Given the description of an element on the screen output the (x, y) to click on. 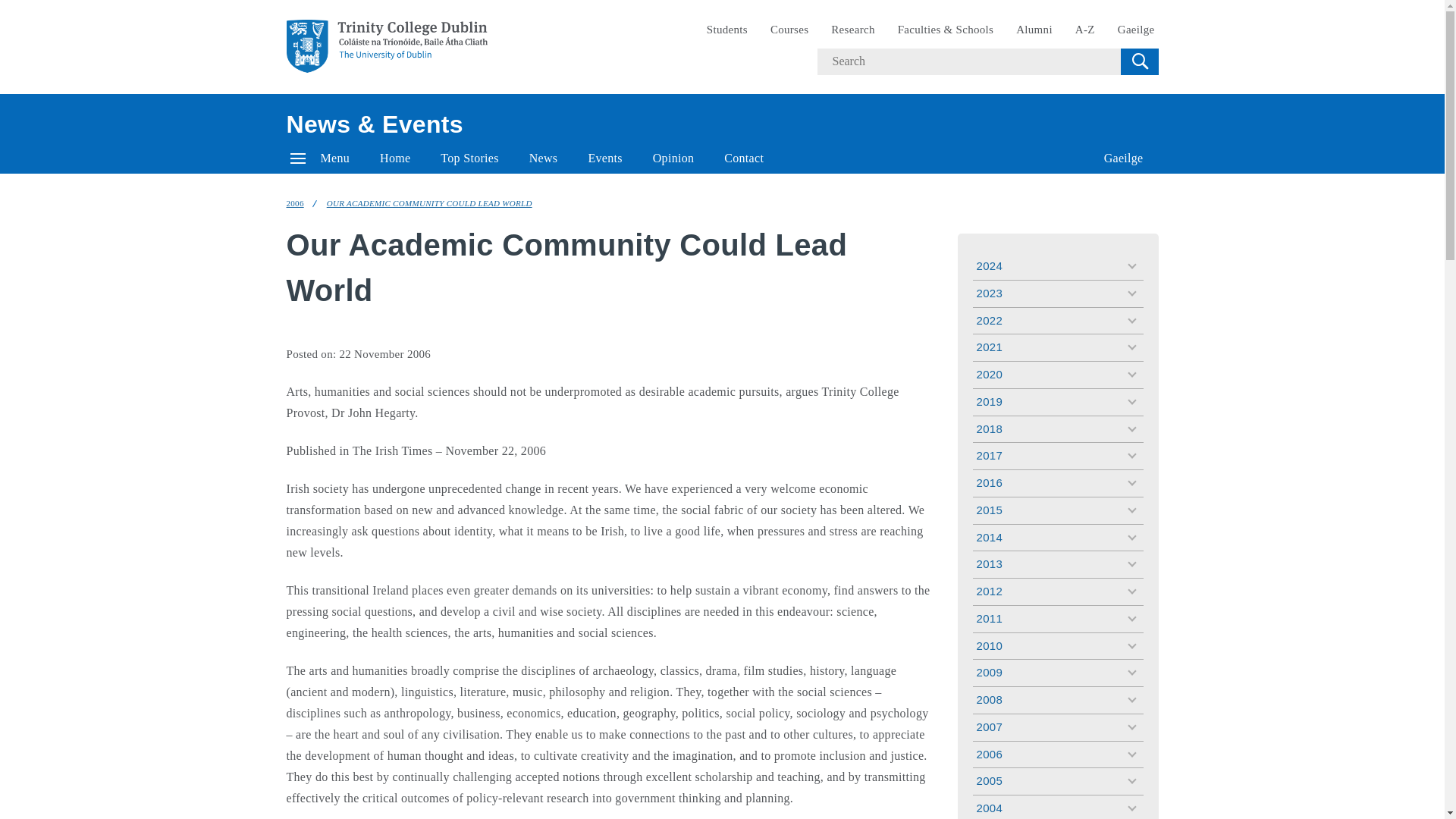
A-Z (1085, 29)
Contact (743, 158)
OUR ACADEMIC COMMUNITY COULD LEAD WORLD (429, 203)
Courses (789, 29)
2006 (295, 203)
Menu (320, 158)
Gaeilge (1135, 29)
Alumni (1034, 29)
Events (604, 158)
Home (395, 158)
Students (727, 29)
Search (1139, 61)
News (543, 158)
Gaeilge (1123, 158)
Research (852, 29)
